Given the description of an element on the screen output the (x, y) to click on. 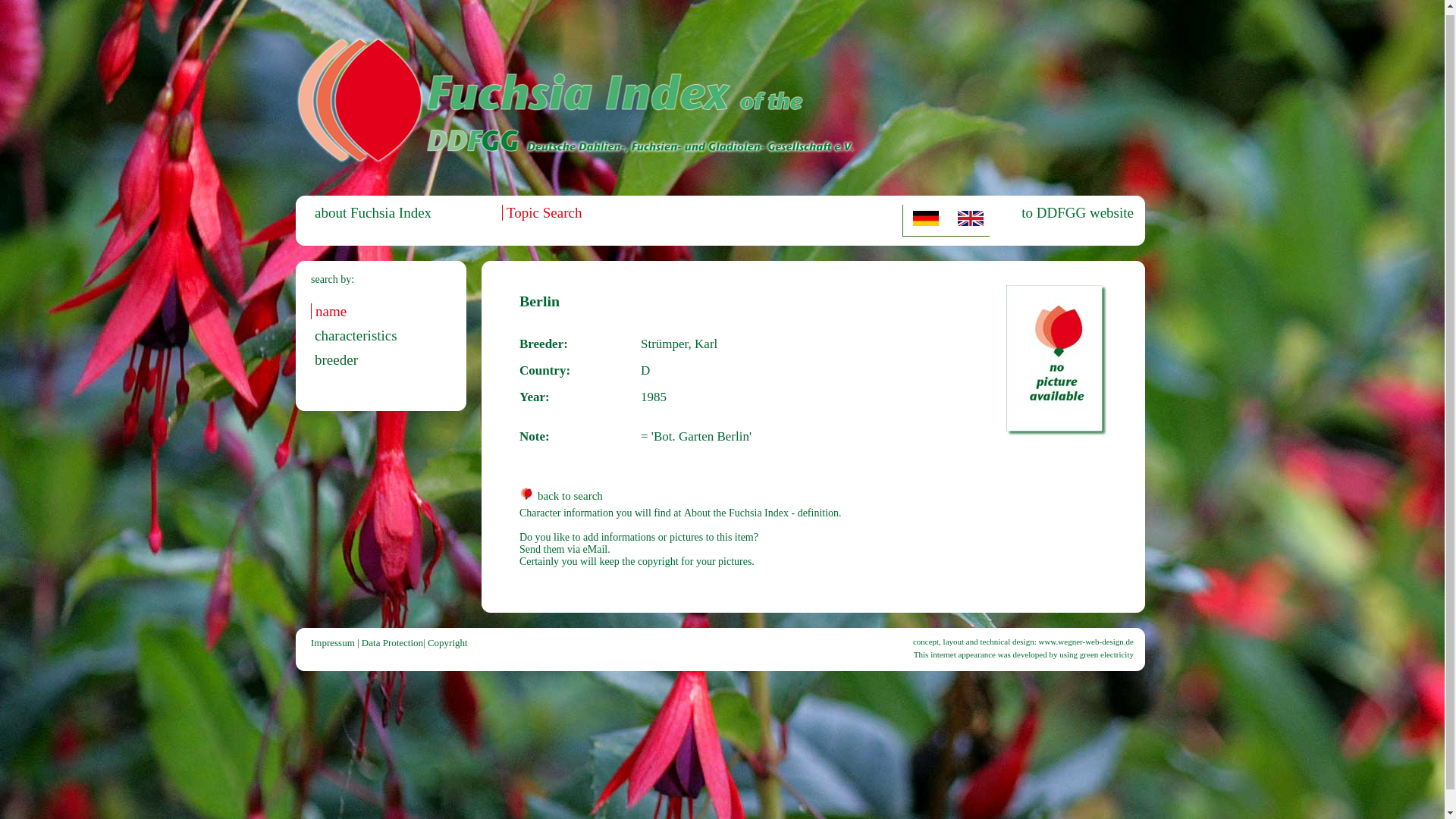
About the Fuchsia Index - definition (761, 512)
breeder (334, 359)
Send them via eMail. (564, 549)
back to search (560, 495)
characteristics (354, 335)
name (328, 311)
Topic Search (541, 212)
about Fuchsia Index (370, 212)
